Given the description of an element on the screen output the (x, y) to click on. 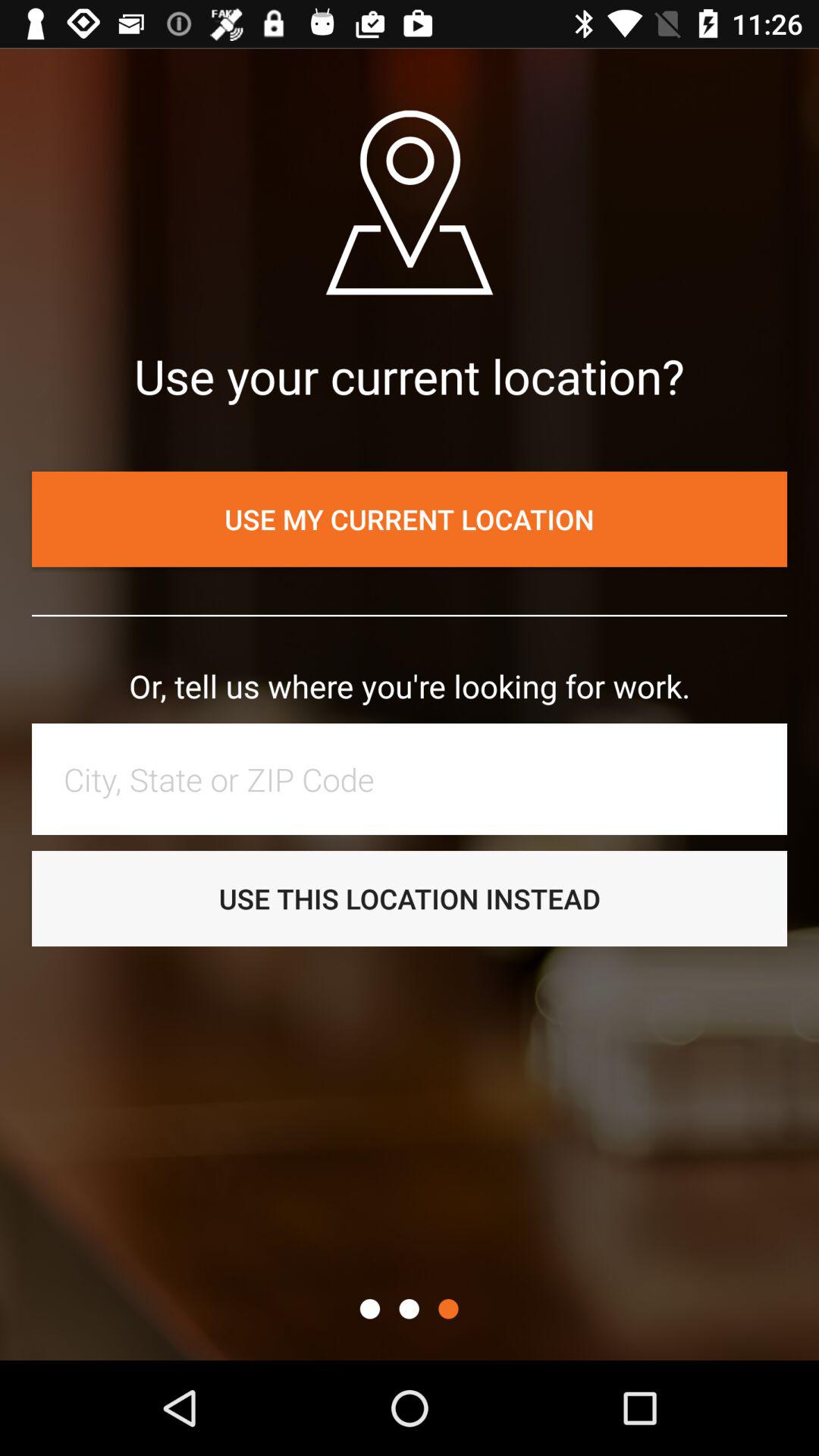
launch item below the use this location icon (448, 1308)
